Given the description of an element on the screen output the (x, y) to click on. 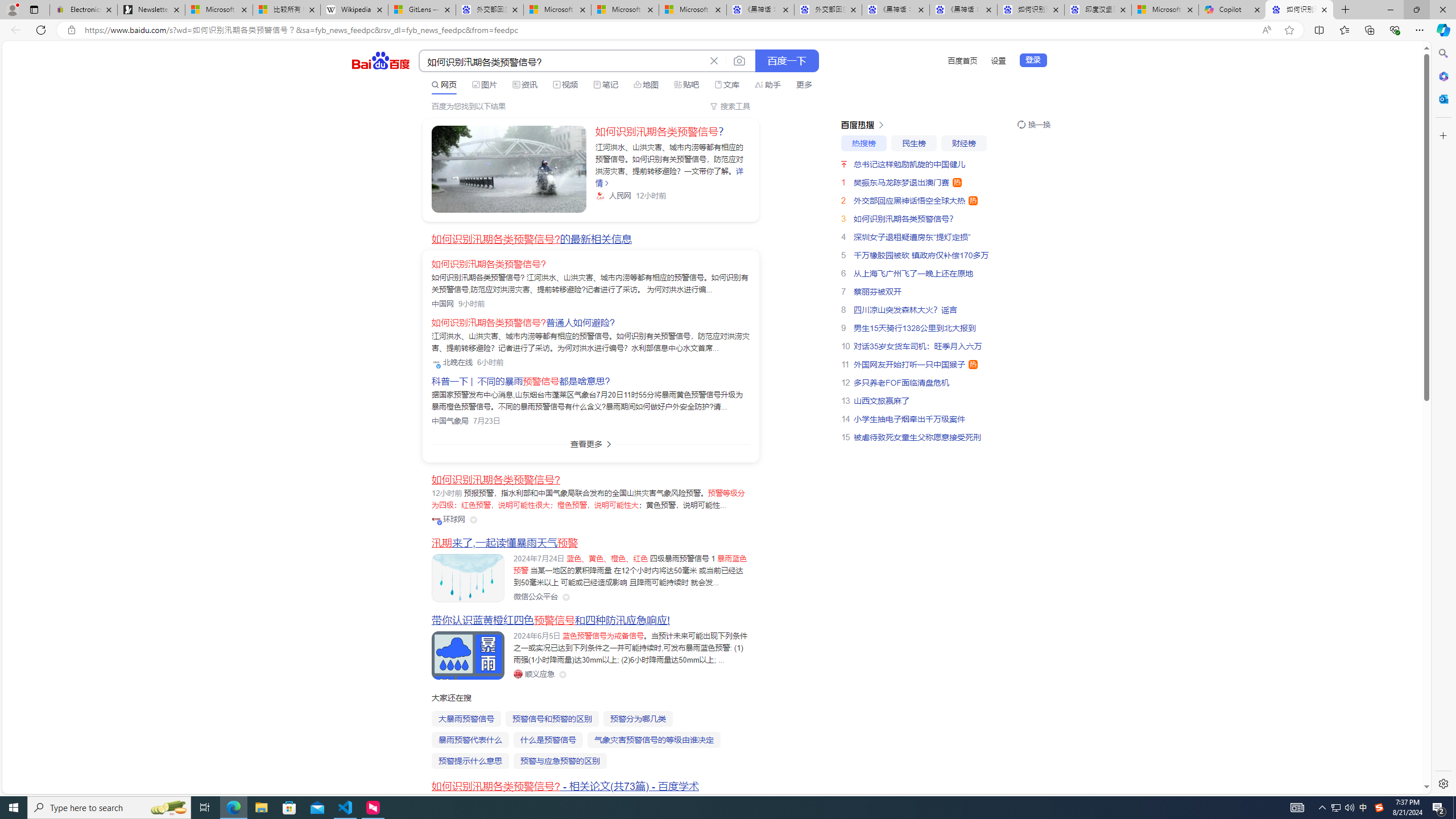
Wikipedia (354, 9)
